Given the description of an element on the screen output the (x, y) to click on. 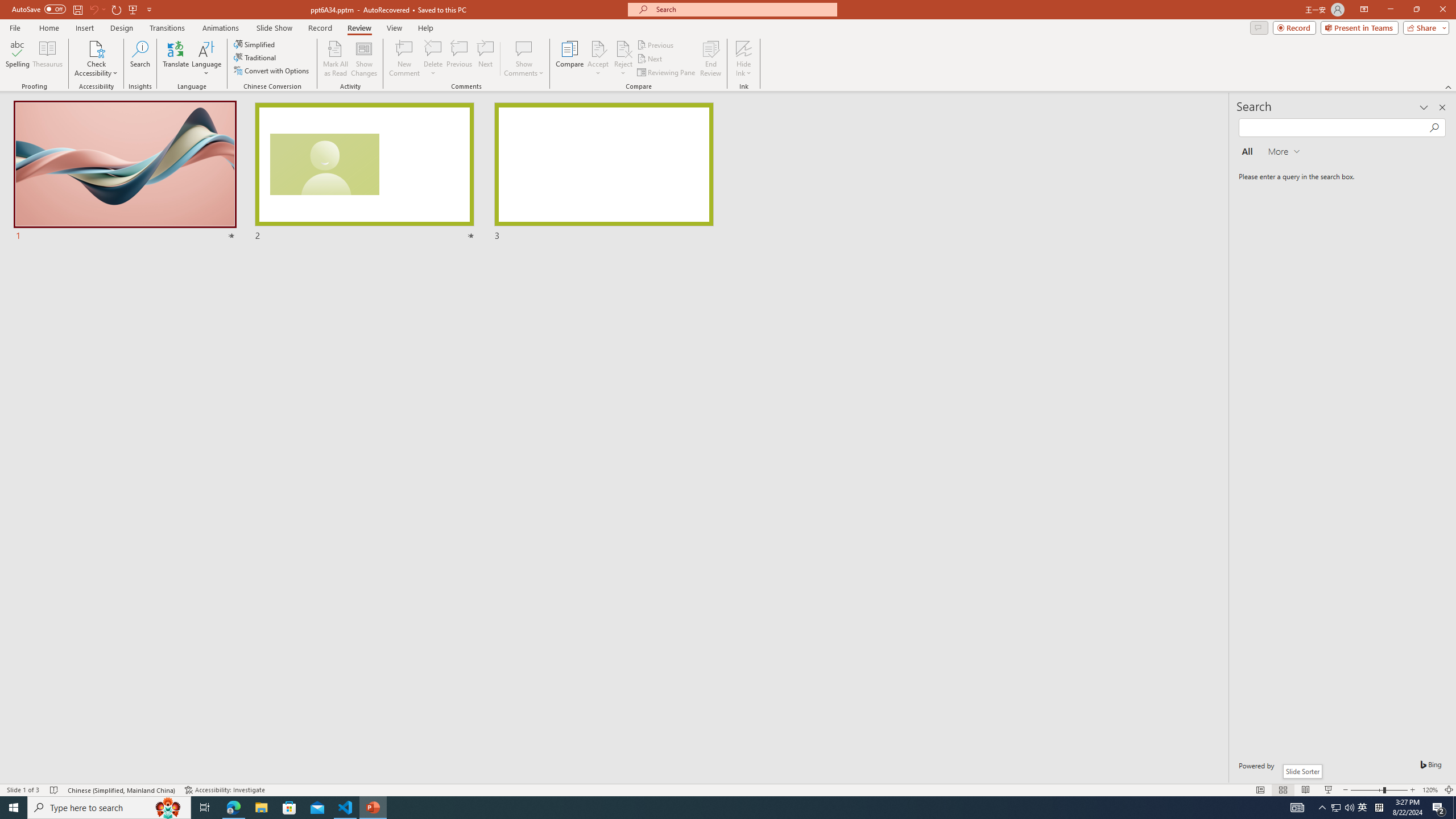
Search (140, 58)
Spelling... (17, 58)
Language (206, 58)
Microsoft search (742, 9)
Reading View (1305, 790)
Spell Check No Errors (54, 790)
Ribbon Display Options (1364, 9)
Delete (432, 58)
Zoom Out (1367, 790)
Mark All as Read (335, 58)
Thesaurus... (47, 58)
Review (359, 28)
